Given the description of an element on the screen output the (x, y) to click on. 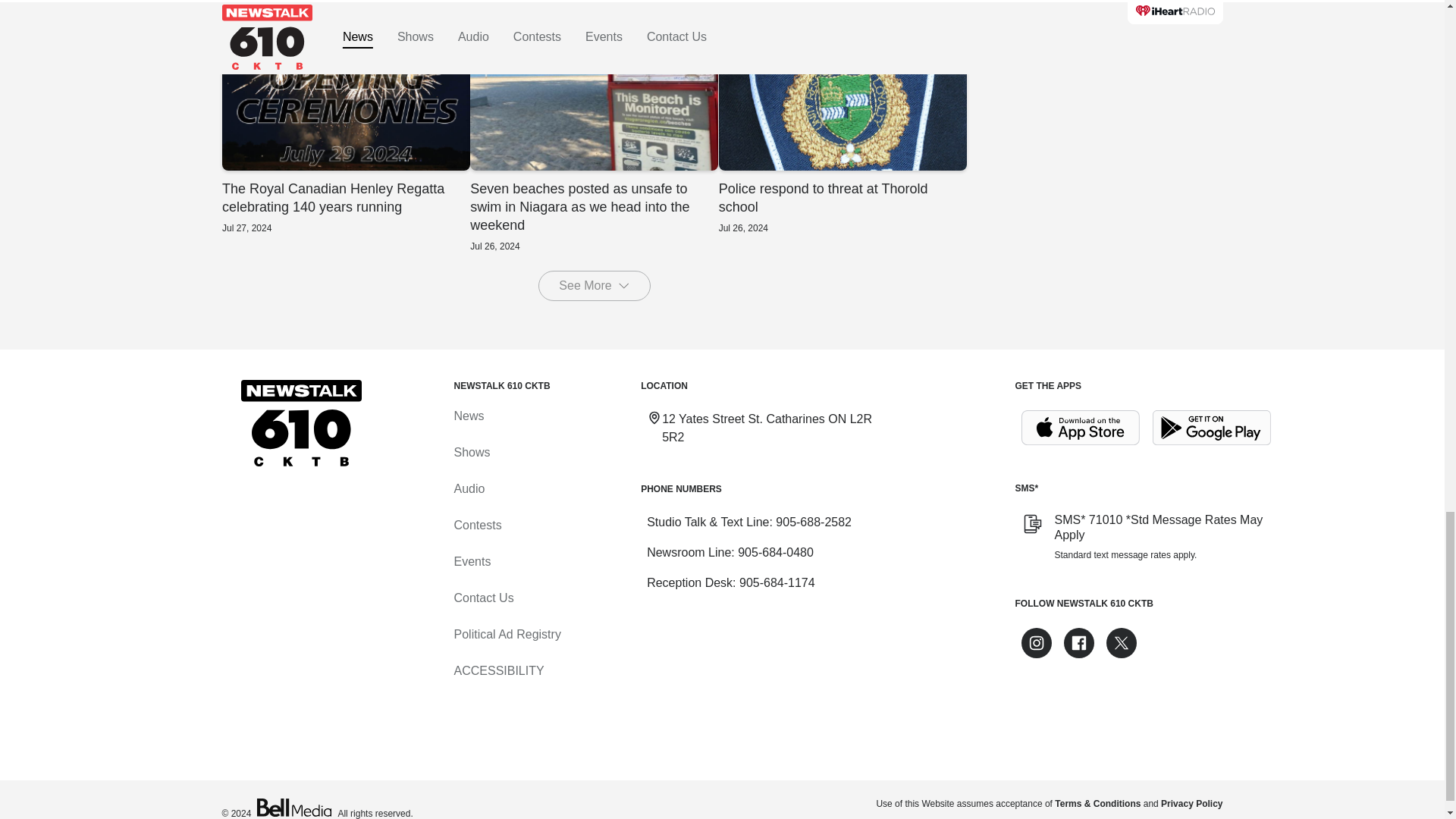
905-688-2582 (813, 521)
Accessibility (497, 671)
905-684-0480 (775, 552)
Contact Us (482, 597)
News (467, 415)
Get it on Google Play (1212, 427)
Police respond to threat at Thorold school (841, 137)
Contests (476, 524)
Shows (470, 451)
905-684-1174 (777, 582)
